Given the description of an element on the screen output the (x, y) to click on. 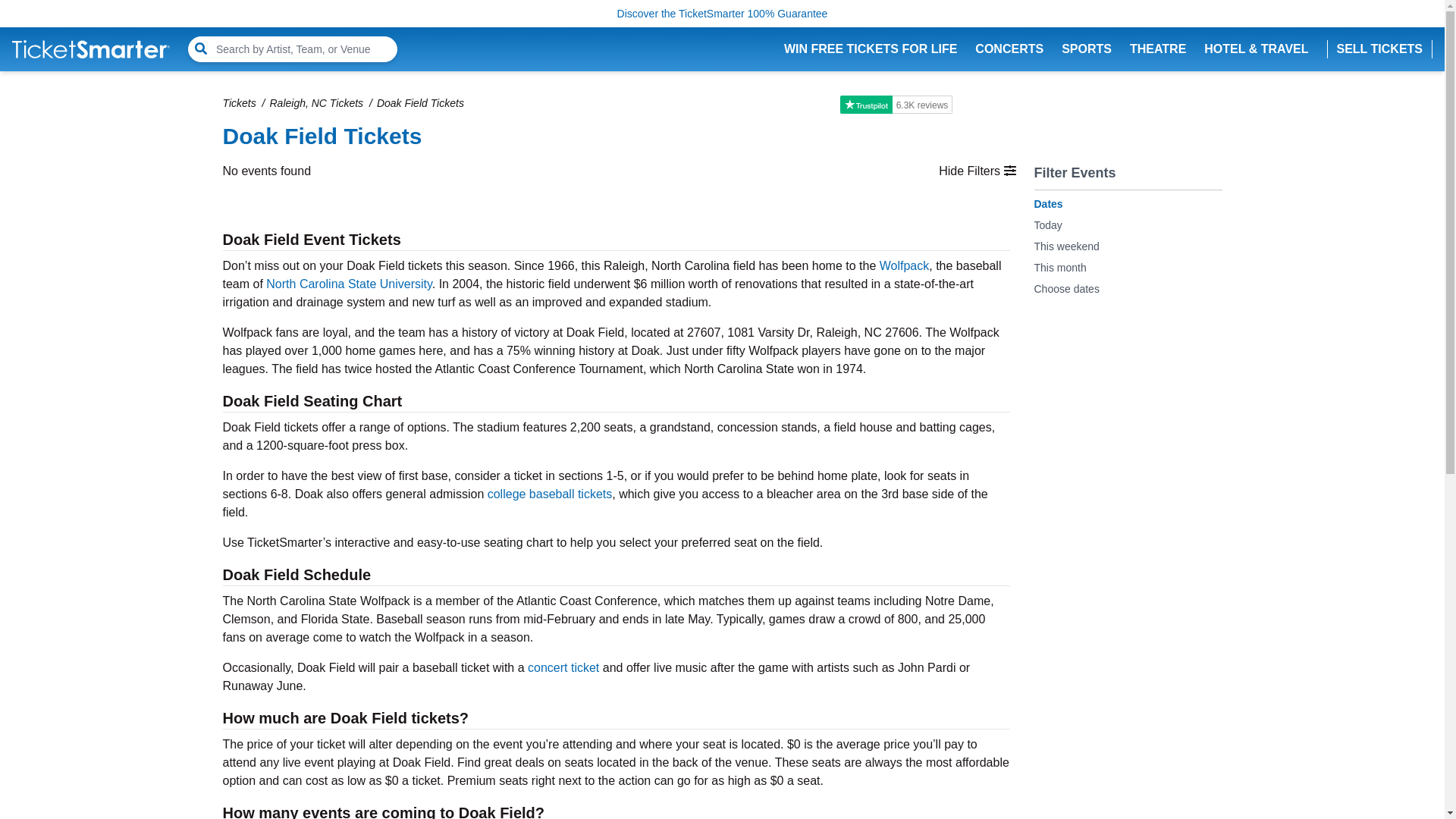
Customer reviews powered by Trustpilot (896, 104)
CONCERTS (1009, 49)
WIN FREE TICKETS FOR LIFE (870, 49)
Raleigh, NC Tickets (316, 102)
Tickets (239, 102)
